Given the description of an element on the screen output the (x, y) to click on. 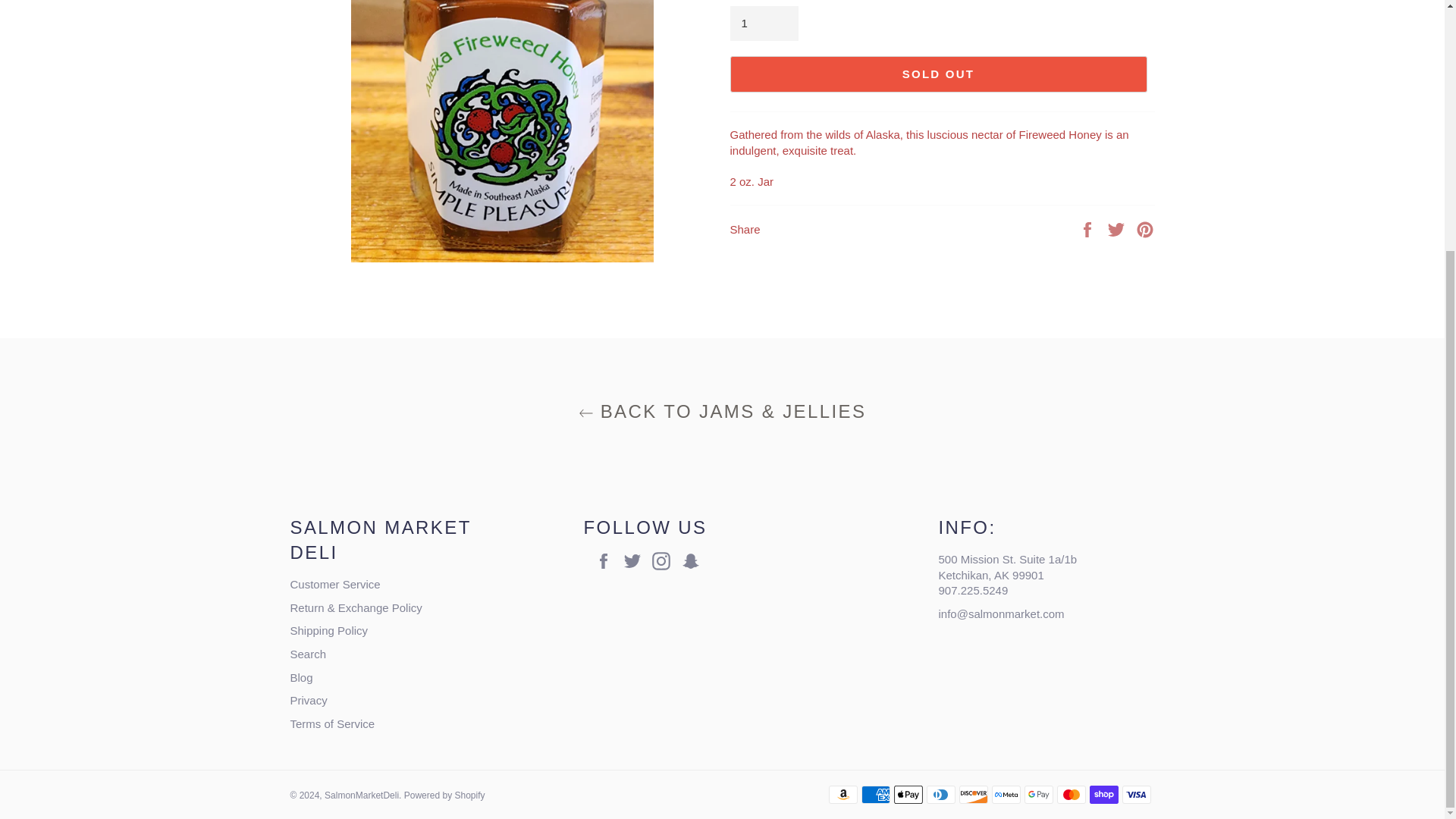
SalmonMarketDeli on Instagram (665, 561)
Tweet on Twitter (1117, 228)
SalmonMarketDeli on Snapchat (693, 561)
SalmonMarketDeli on Facebook (607, 561)
Pin on Pinterest (1144, 228)
1 (763, 23)
Share on Facebook (1088, 228)
SalmonMarketDeli on Twitter (636, 561)
